Given the description of an element on the screen output the (x, y) to click on. 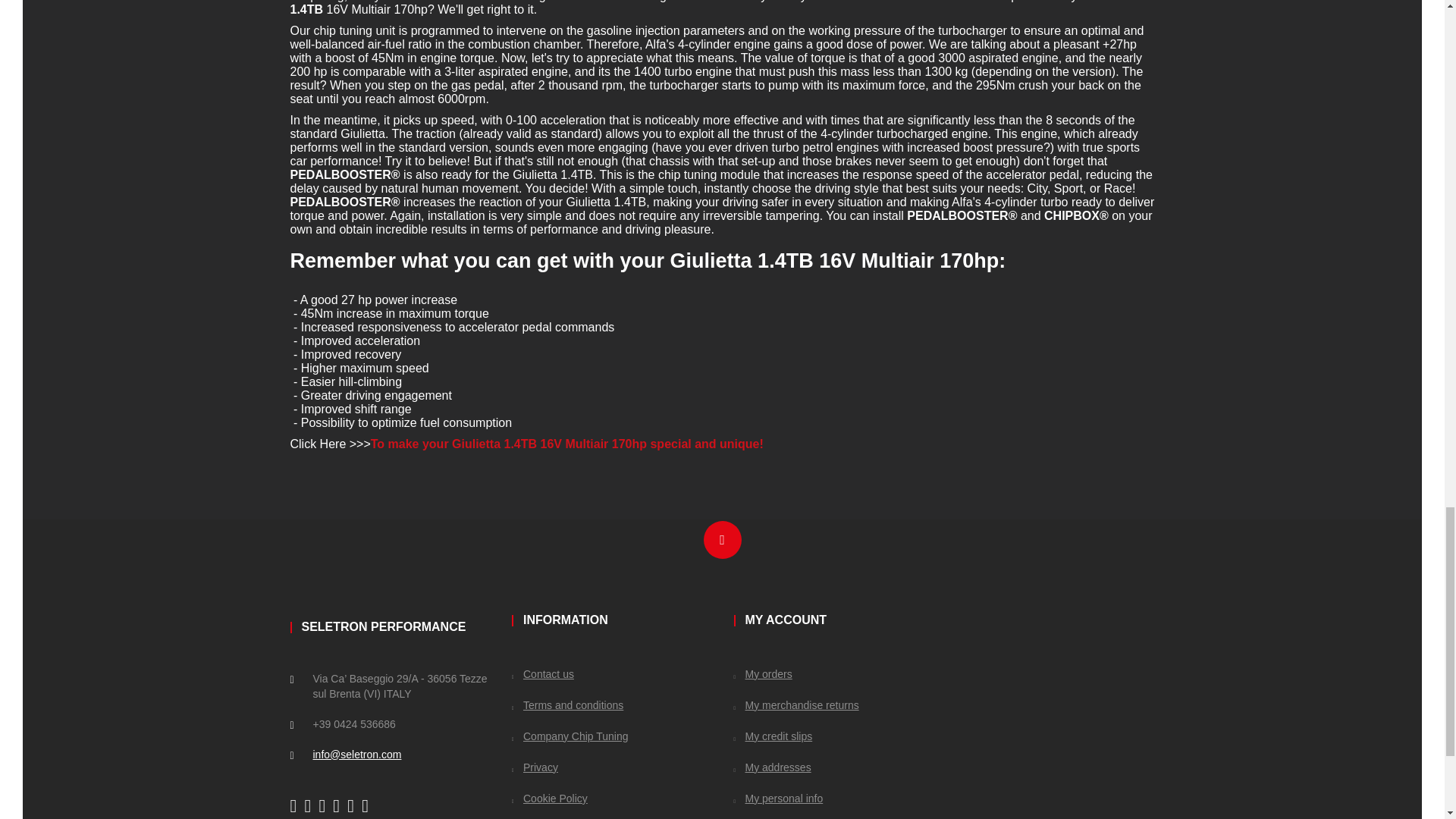
My addresses (771, 767)
Company Chip Tuning (570, 736)
Contact us (542, 674)
Cookie Policy (550, 798)
Terms and conditions (567, 705)
My credit slips (772, 736)
My merchandise returns (796, 705)
Privacy (534, 767)
My orders (762, 674)
